Given the description of an element on the screen output the (x, y) to click on. 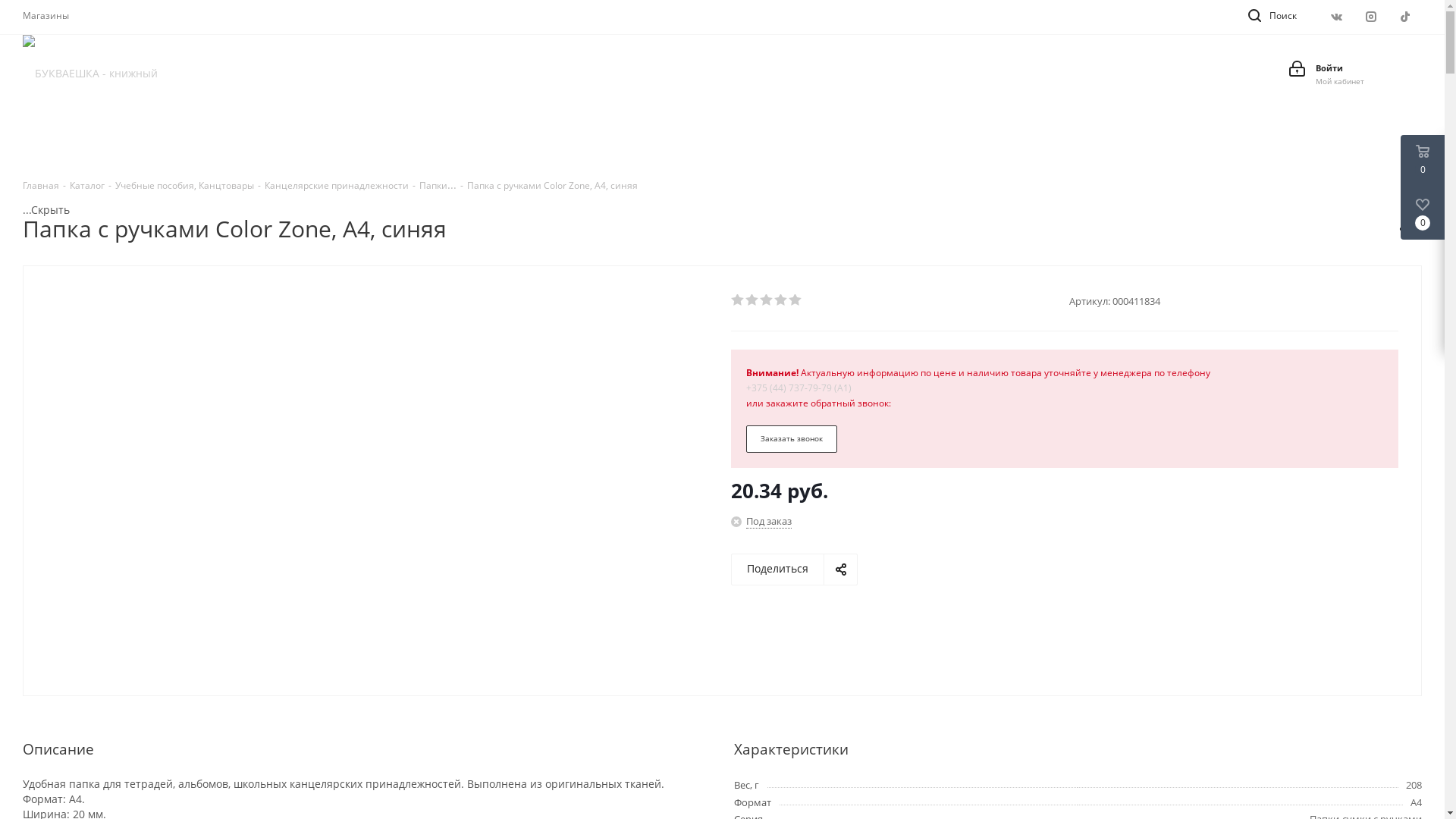
5 Element type: hover (795, 300)
2 Element type: hover (751, 300)
1 Element type: hover (738, 300)
Instagram Element type: text (1370, 16)
3 Element type: hover (766, 300)
4 Element type: hover (780, 300)
